Given the description of an element on the screen output the (x, y) to click on. 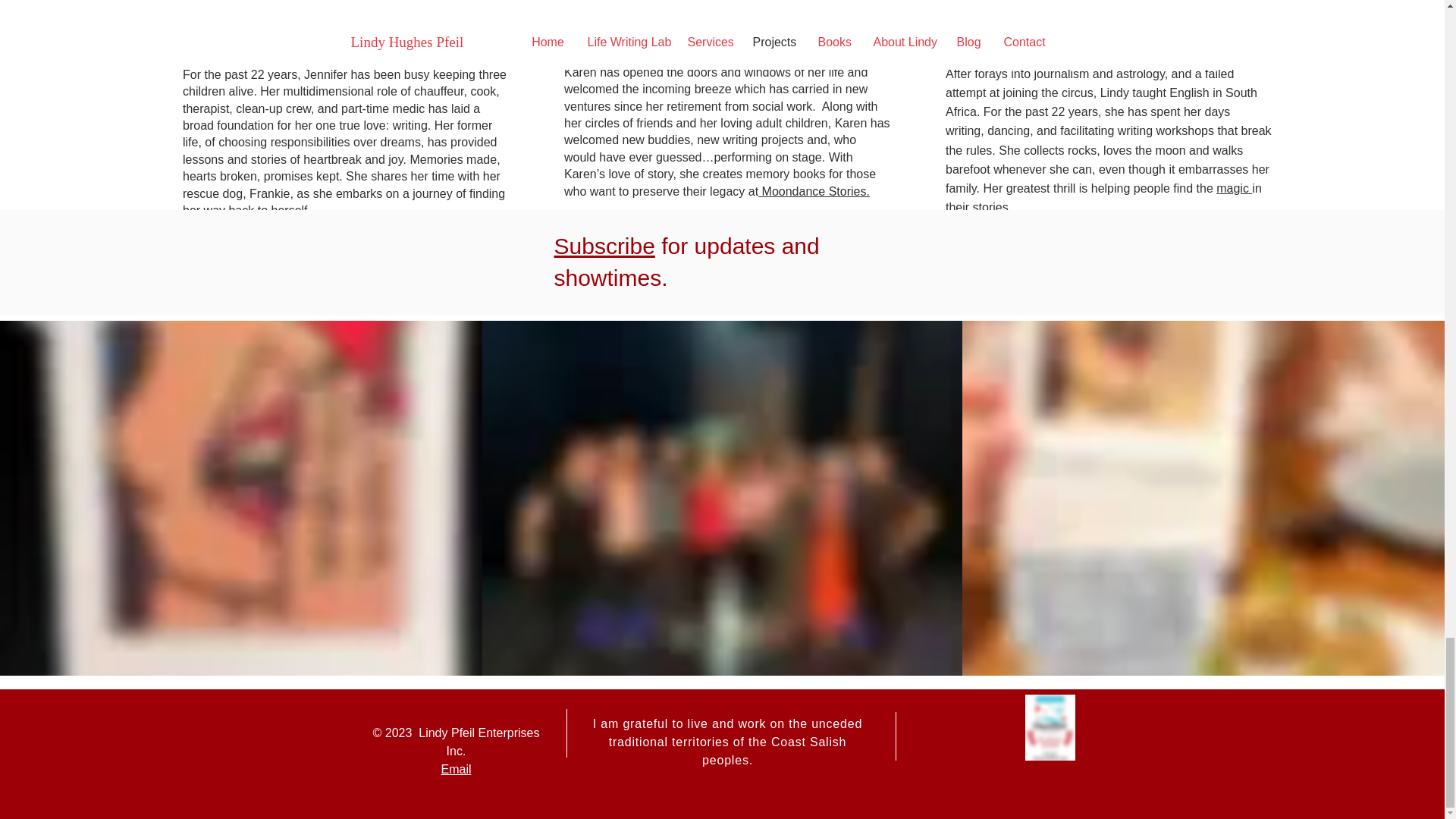
Moondance Stories. (813, 191)
magic (1233, 187)
Subscribe (603, 245)
Email (455, 768)
